Given the description of an element on the screen output the (x, y) to click on. 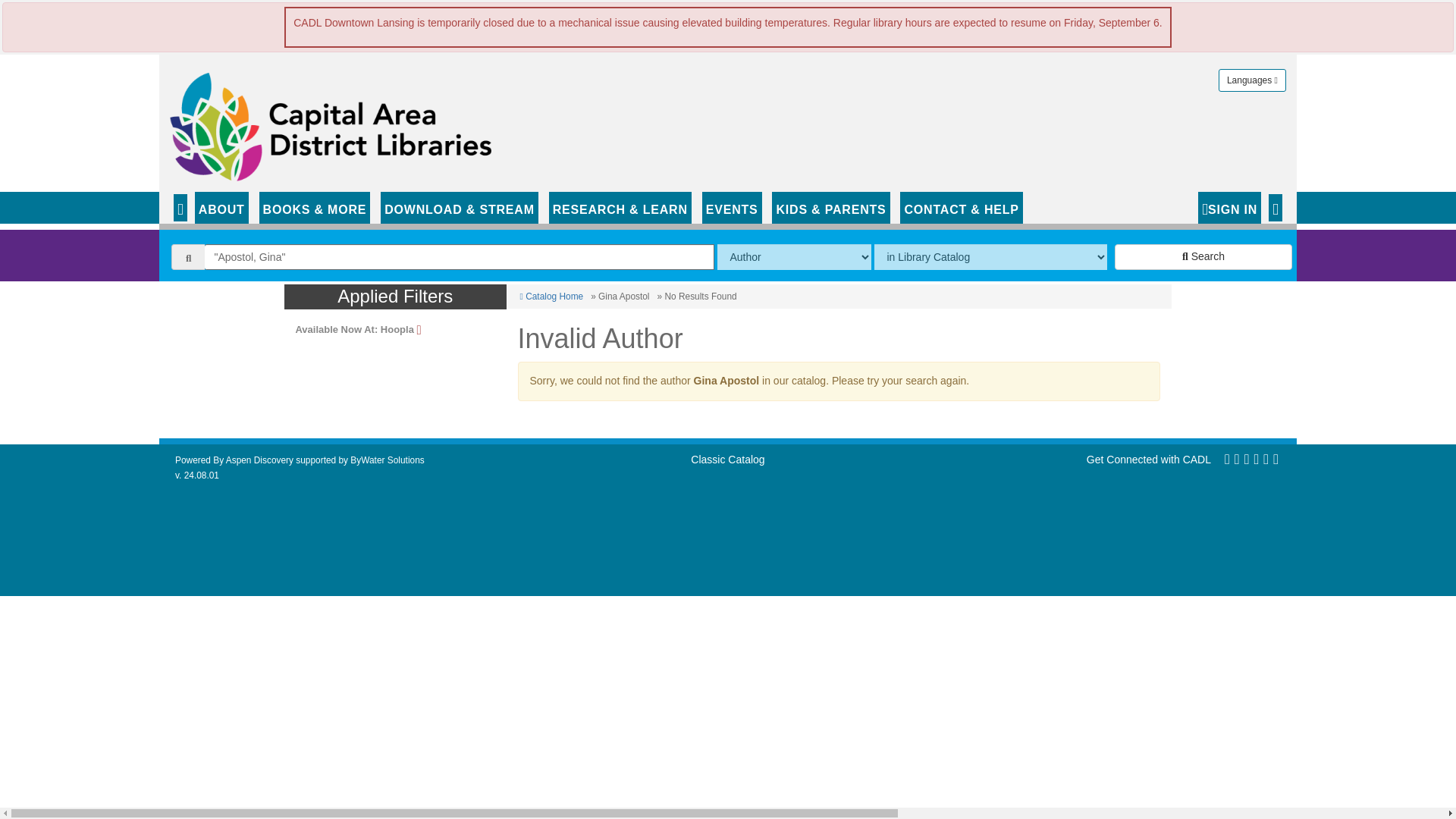
Library Home Page (334, 122)
EVENTS (731, 207)
ABOUT (221, 207)
"Apostol, Gina" (459, 257)
Languages  (1251, 79)
